Given the description of an element on the screen output the (x, y) to click on. 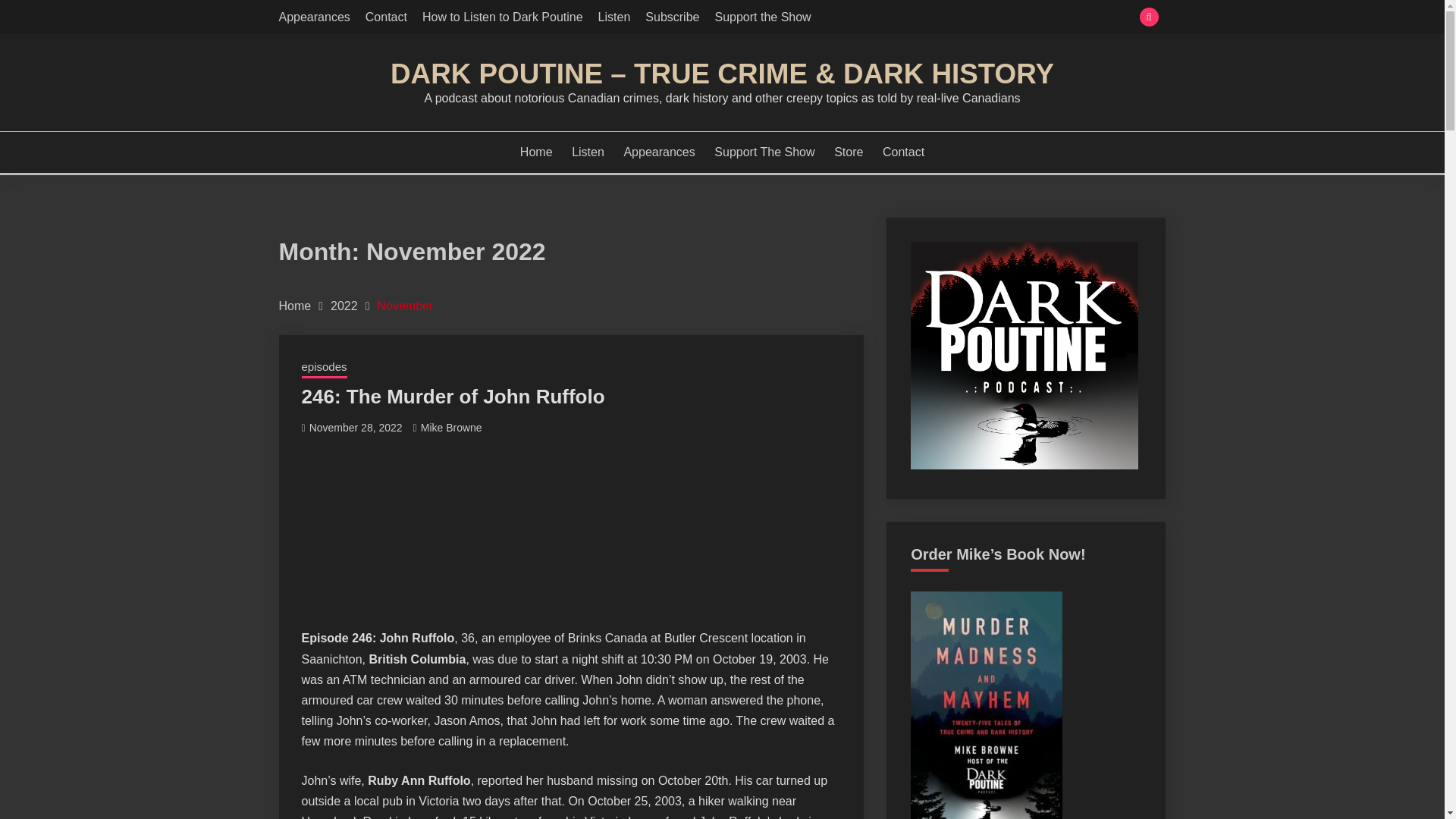
Search (832, 18)
Store (848, 152)
November (404, 305)
2022 (344, 305)
Contact (386, 16)
Listen (588, 152)
Support The Show (763, 152)
Home (295, 305)
Home (536, 152)
Contact (903, 152)
episodes (324, 368)
Support the Show (762, 16)
How to Listen to Dark Poutine (502, 16)
Appearances (658, 152)
Subscribe (671, 16)
